Given the description of an element on the screen output the (x, y) to click on. 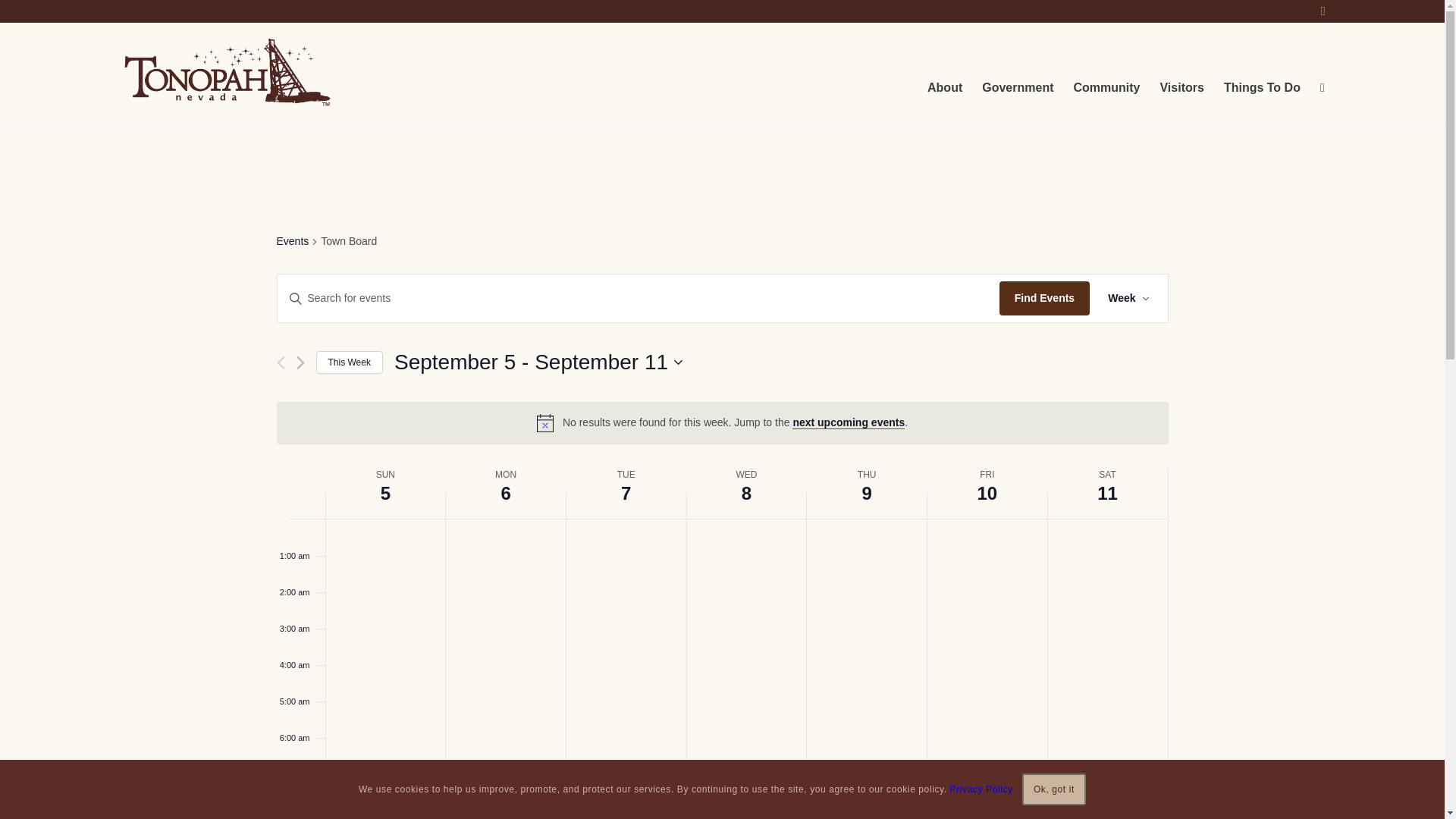
Community (1106, 72)
Facebook (1323, 11)
Click to toggle datepicker (538, 362)
Tonopah Nevada Logo (226, 72)
Previous week (279, 362)
Click to select the current week (348, 362)
Government (1017, 72)
Next week (299, 362)
About (944, 72)
